Given the description of an element on the screen output the (x, y) to click on. 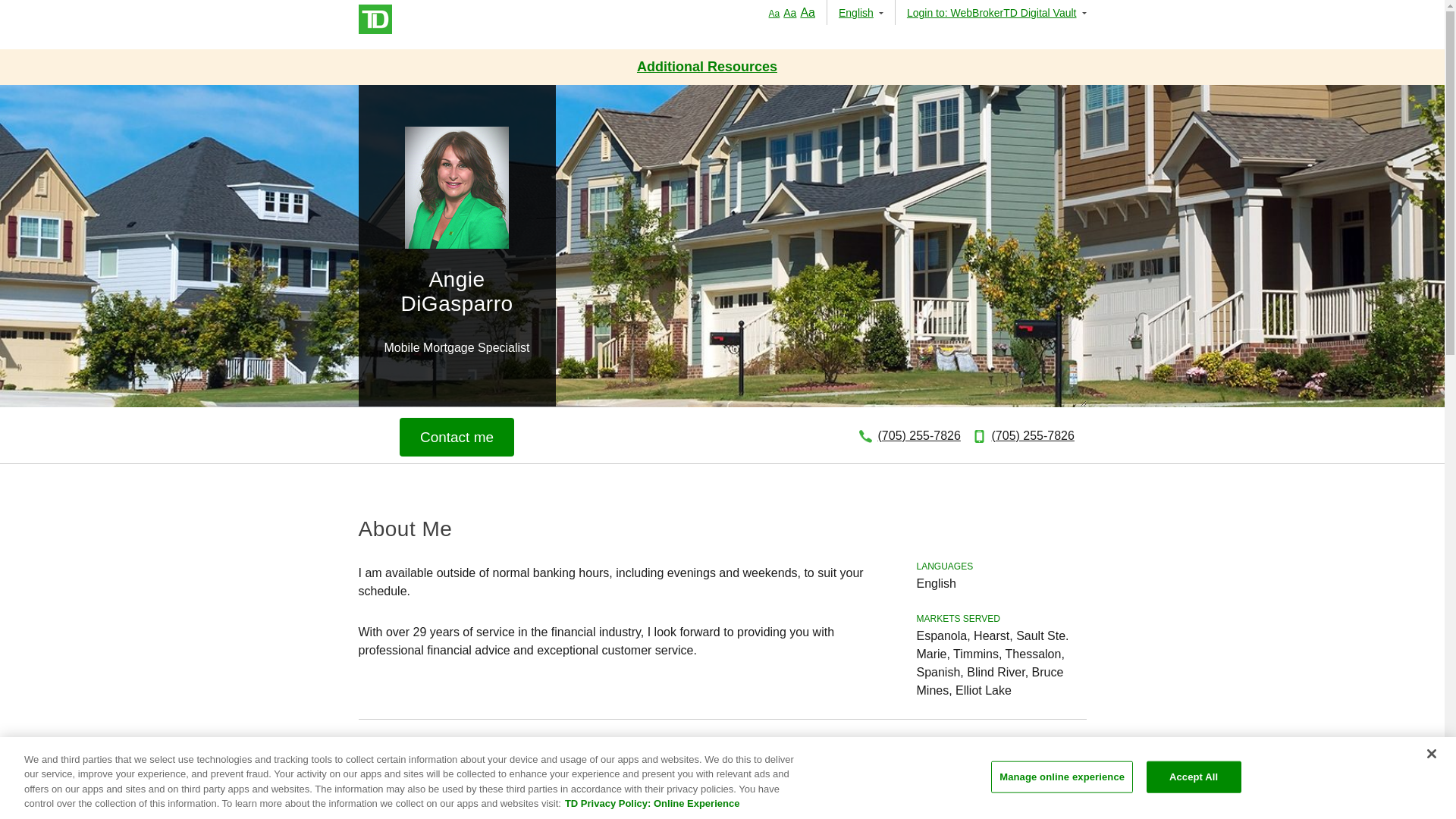
Aa (774, 13)
Aa (789, 12)
Additional Resources (707, 66)
Login to: WebBrokerTD Digital Vault (990, 12)
Aa (807, 11)
English (861, 12)
Contact me (455, 436)
